Given the description of an element on the screen output the (x, y) to click on. 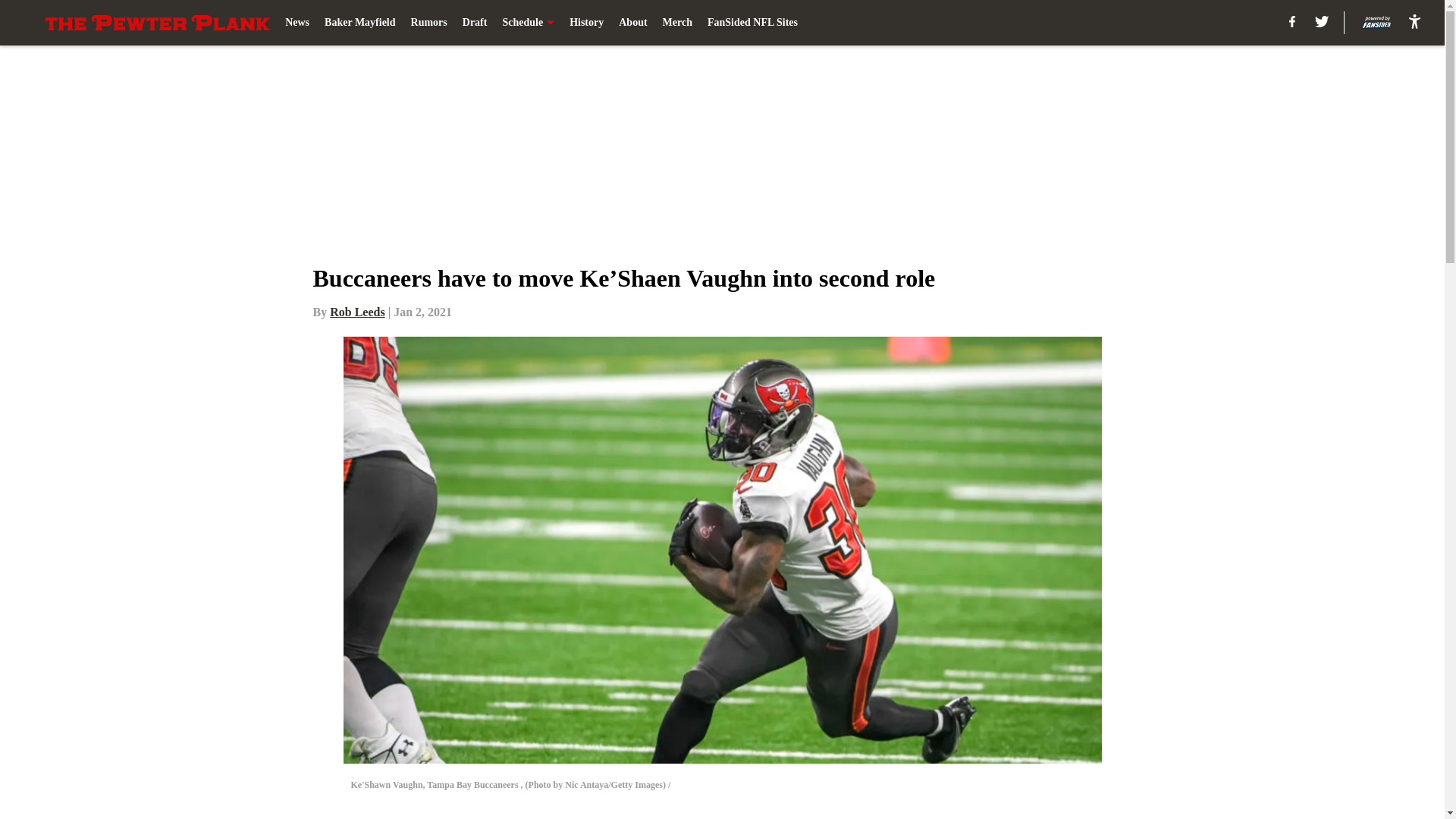
News (296, 22)
About (632, 22)
FanSided NFL Sites (752, 22)
Rumors (428, 22)
Baker Mayfield (359, 22)
Draft (475, 22)
History (586, 22)
Rob Leeds (357, 311)
Merch (677, 22)
